Given the description of an element on the screen output the (x, y) to click on. 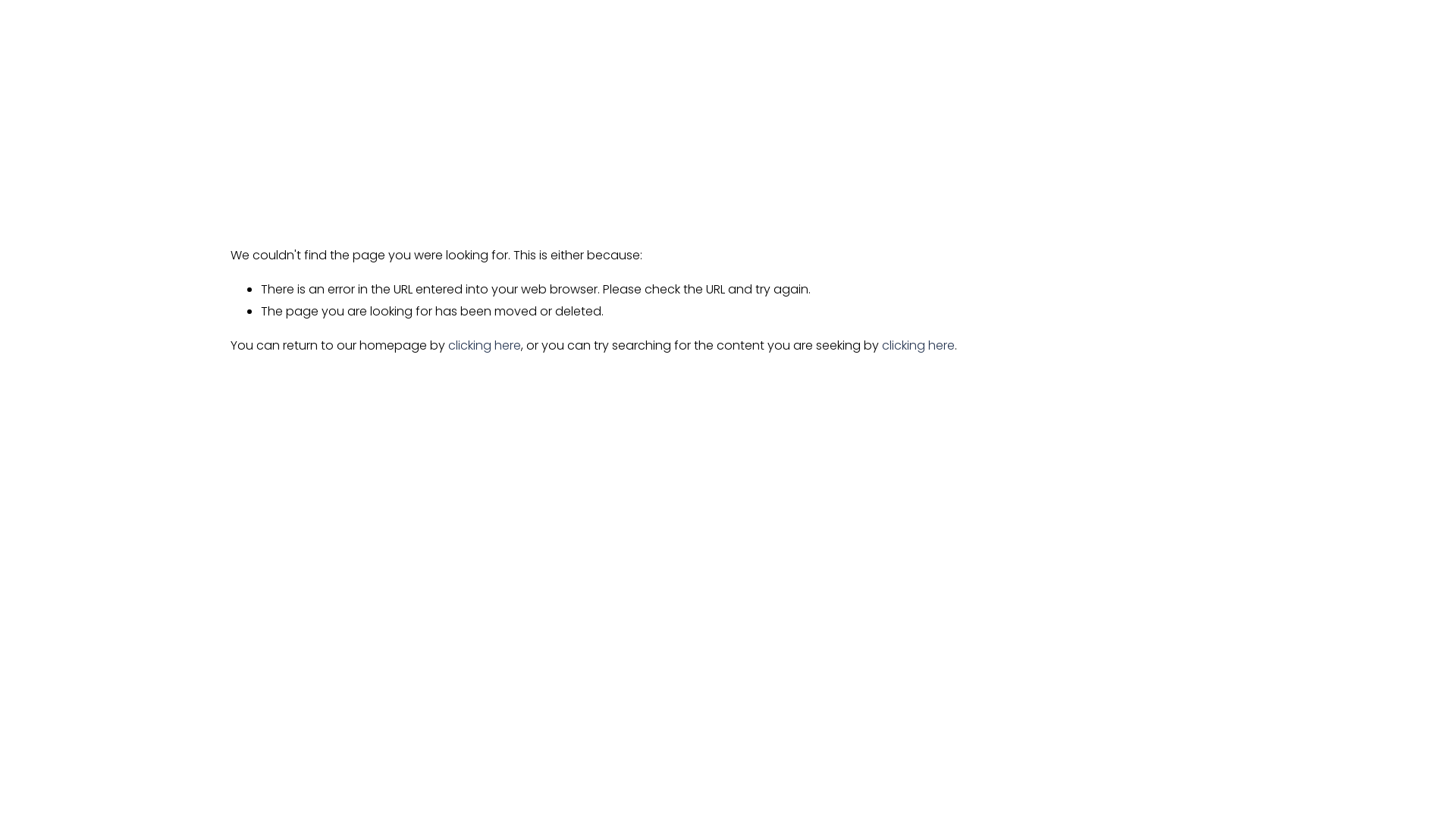
clicking here Element type: text (483, 345)
clicking here Element type: text (917, 345)
